Given the description of an element on the screen output the (x, y) to click on. 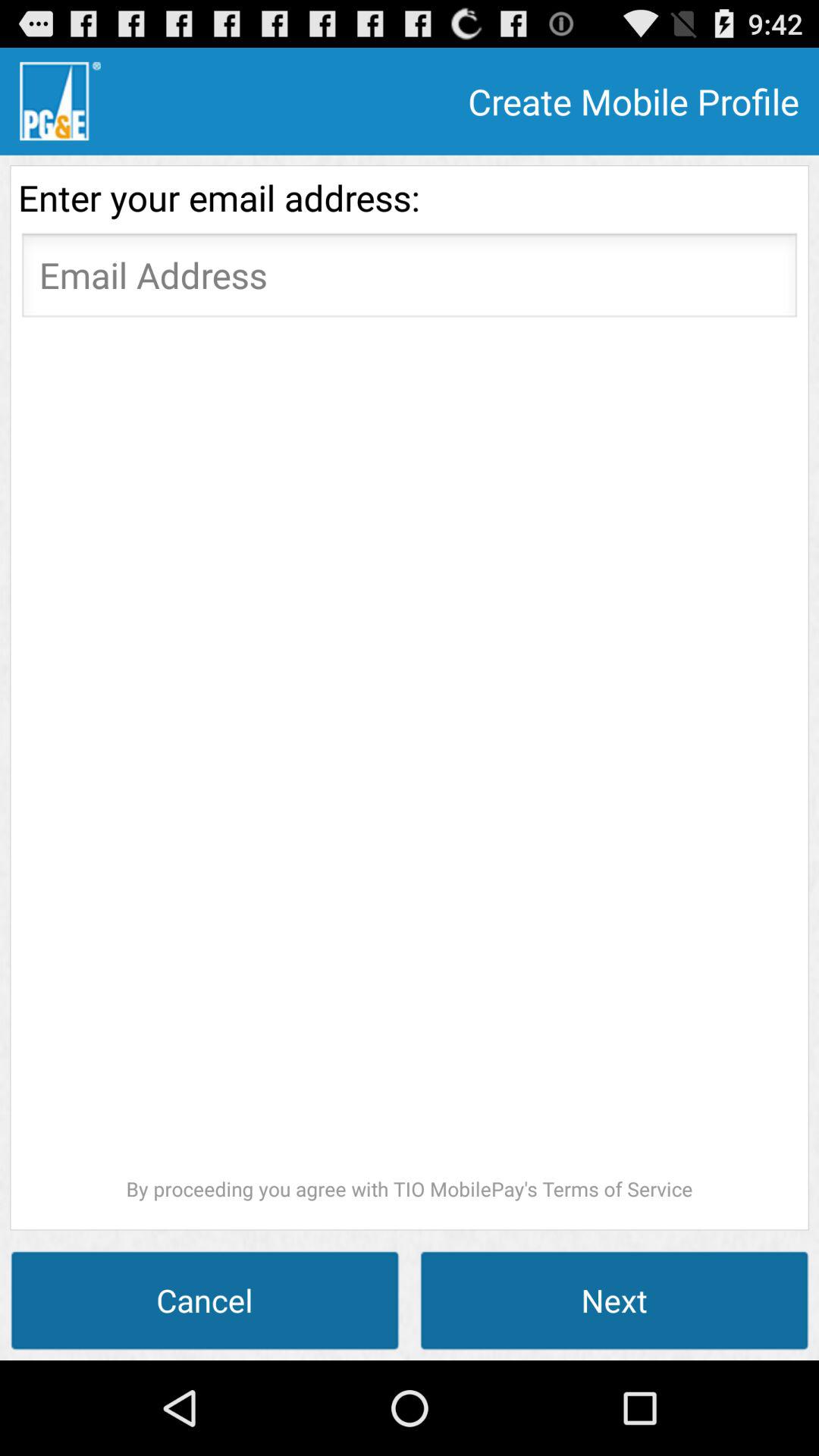
flip until cancel button (204, 1300)
